Given the description of an element on the screen output the (x, y) to click on. 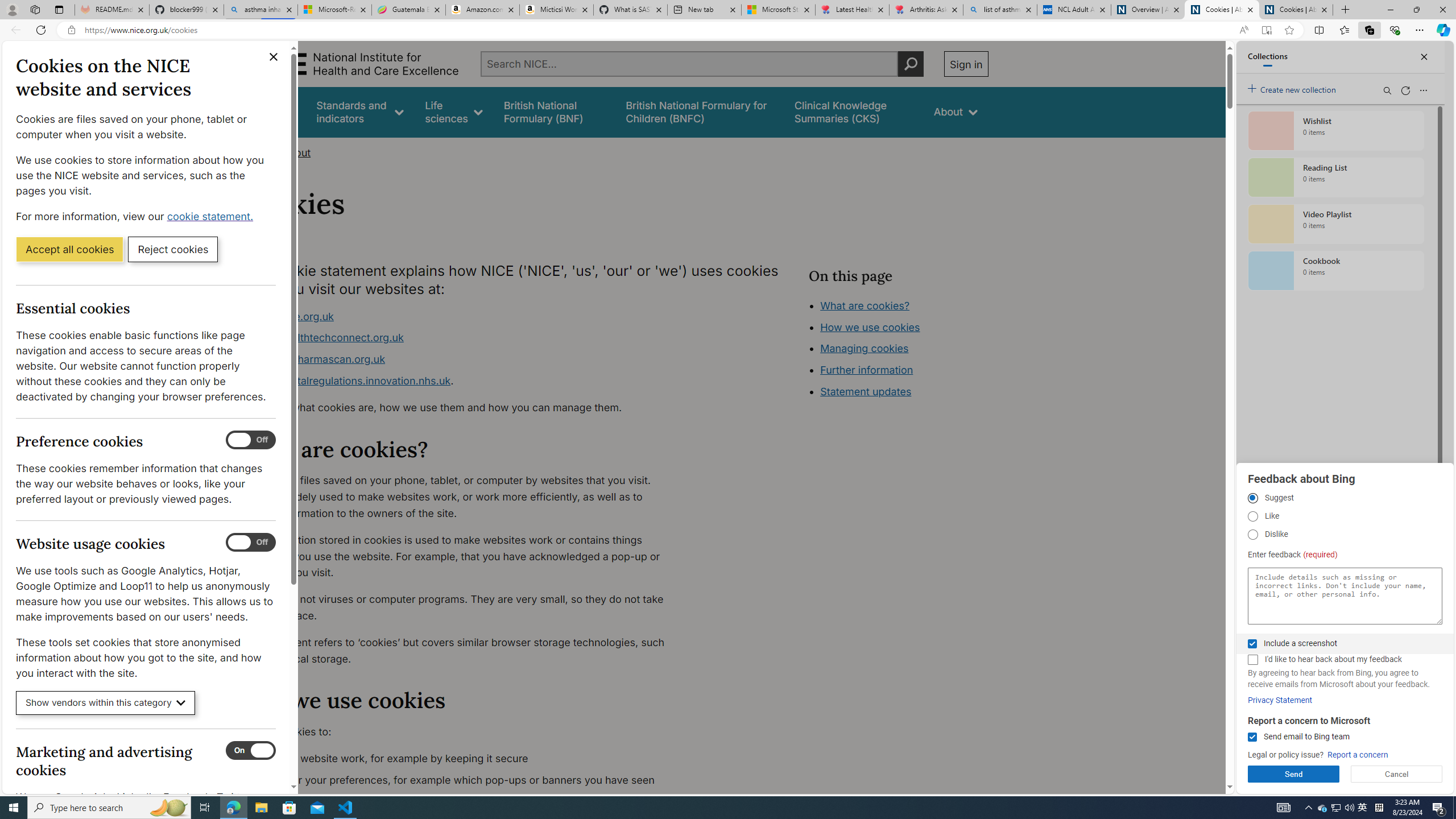
Further information (865, 369)
About (955, 111)
Life sciences (453, 111)
Send (1293, 773)
